Given the description of an element on the screen output the (x, y) to click on. 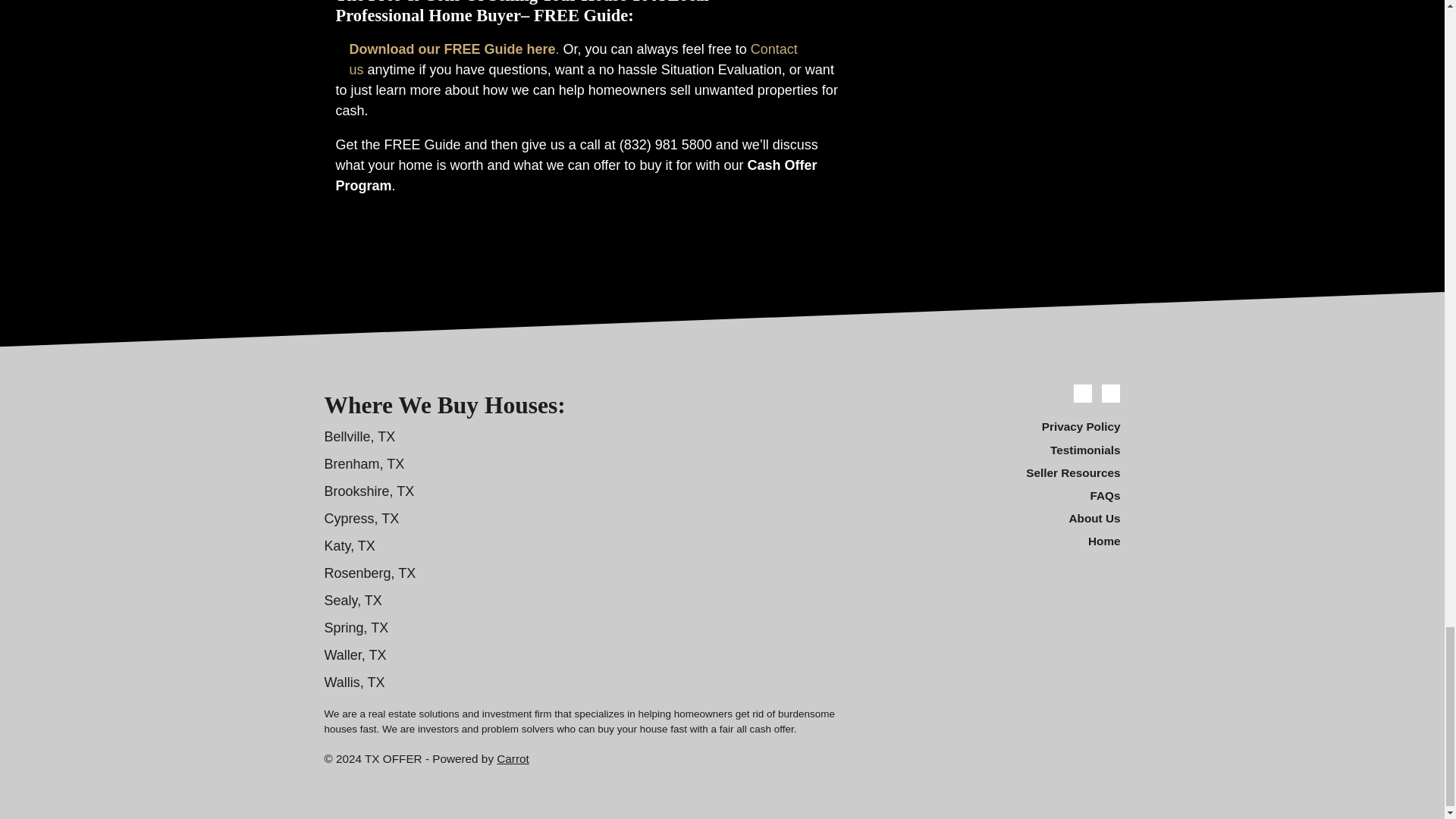
About Us (995, 517)
Privacy Policy (995, 427)
Download our FREE Guide here. (454, 48)
Testimonials (995, 449)
Instagram (1110, 393)
Brookshire, TX (369, 491)
Contact us (572, 58)
Katy, TX (349, 545)
Cypress, TX (361, 518)
Facebook (1083, 393)
